Given the description of an element on the screen output the (x, y) to click on. 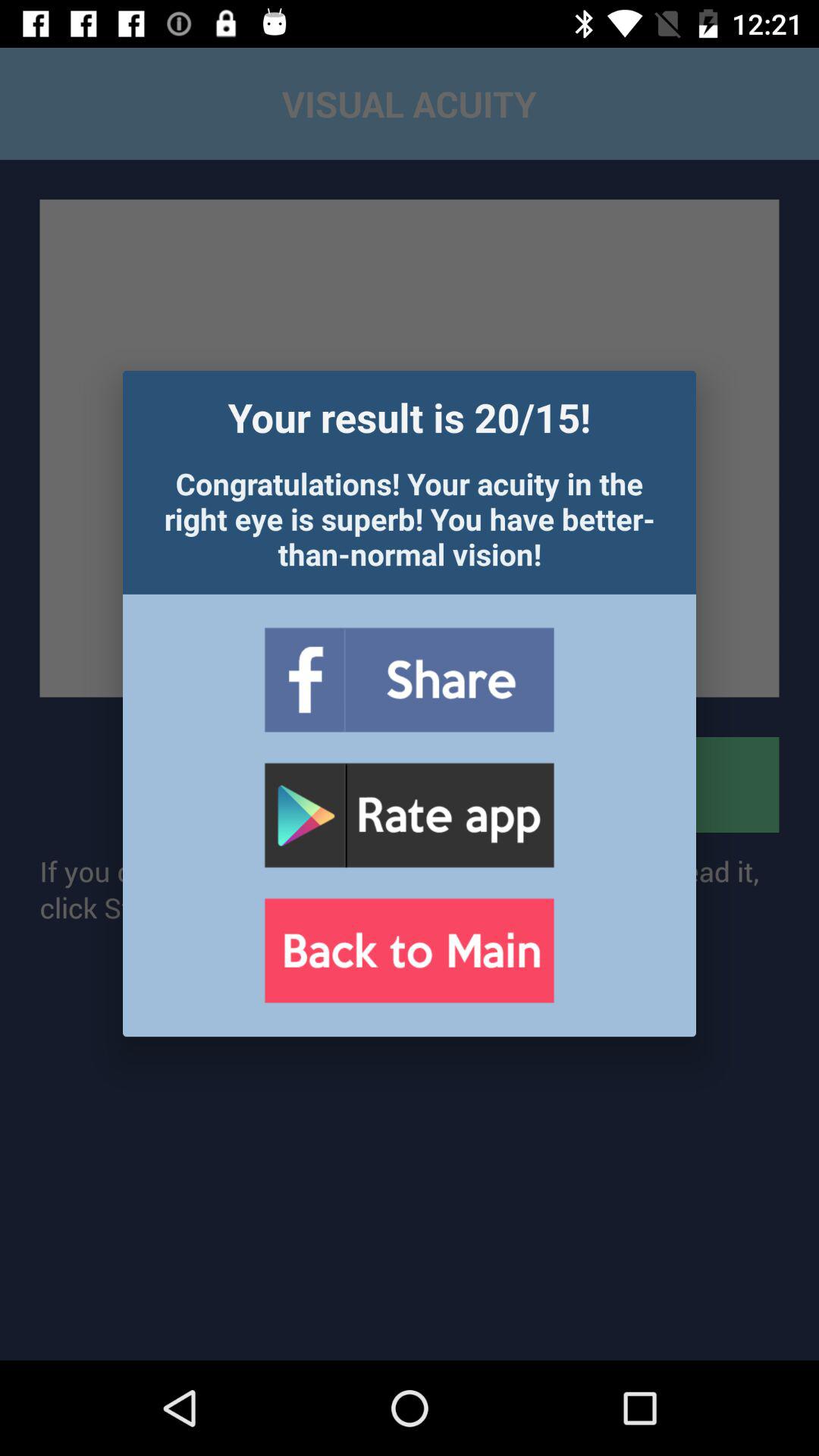
share on facebook (408, 679)
